Given the description of an element on the screen output the (x, y) to click on. 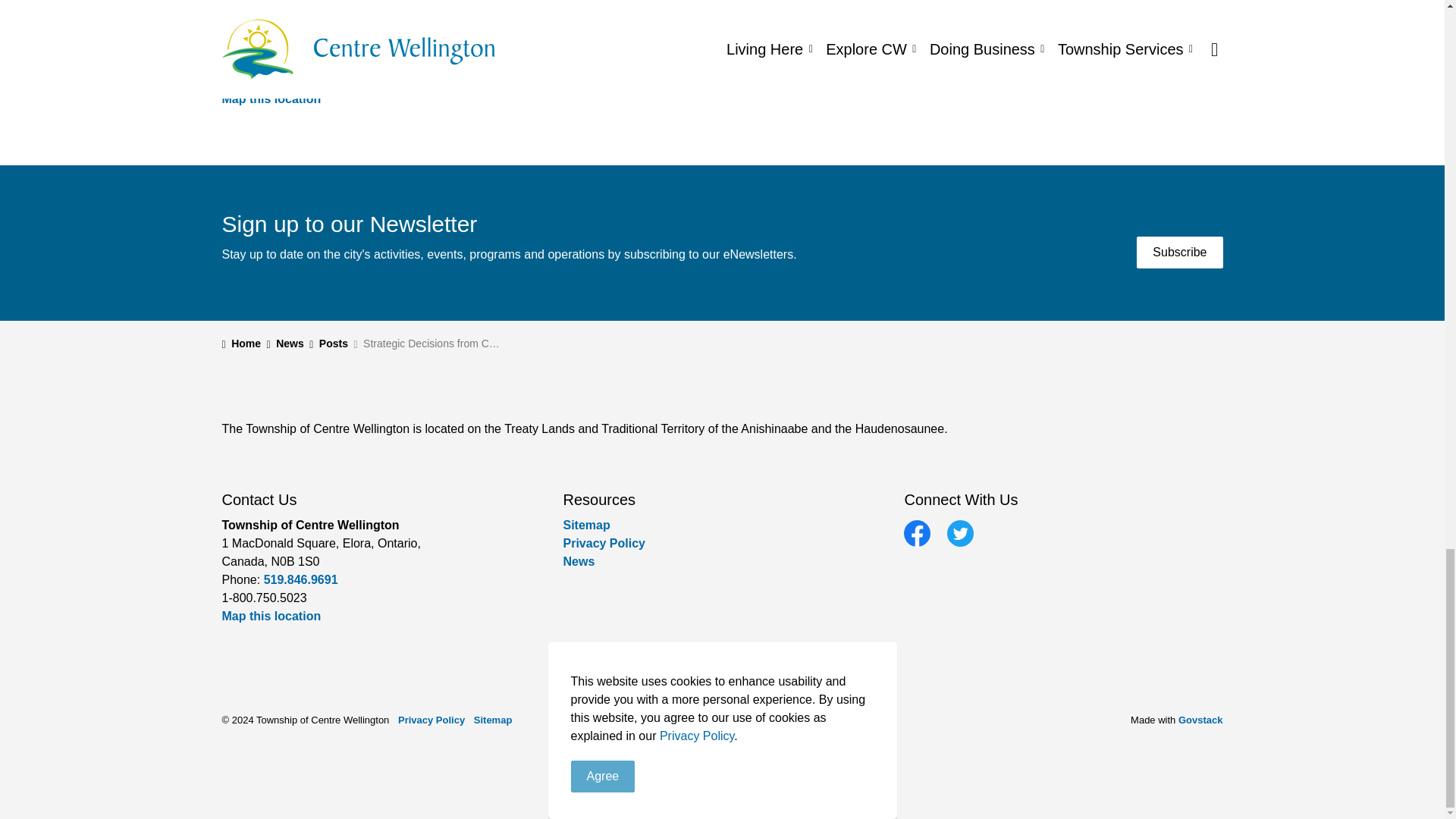
Sitemap (586, 524)
Link to email Township of Centre Wellington (247, 80)
Link to map this location (270, 615)
Link to map this location (270, 98)
Privacy Policy (603, 543)
News (578, 561)
